Given the description of an element on the screen output the (x, y) to click on. 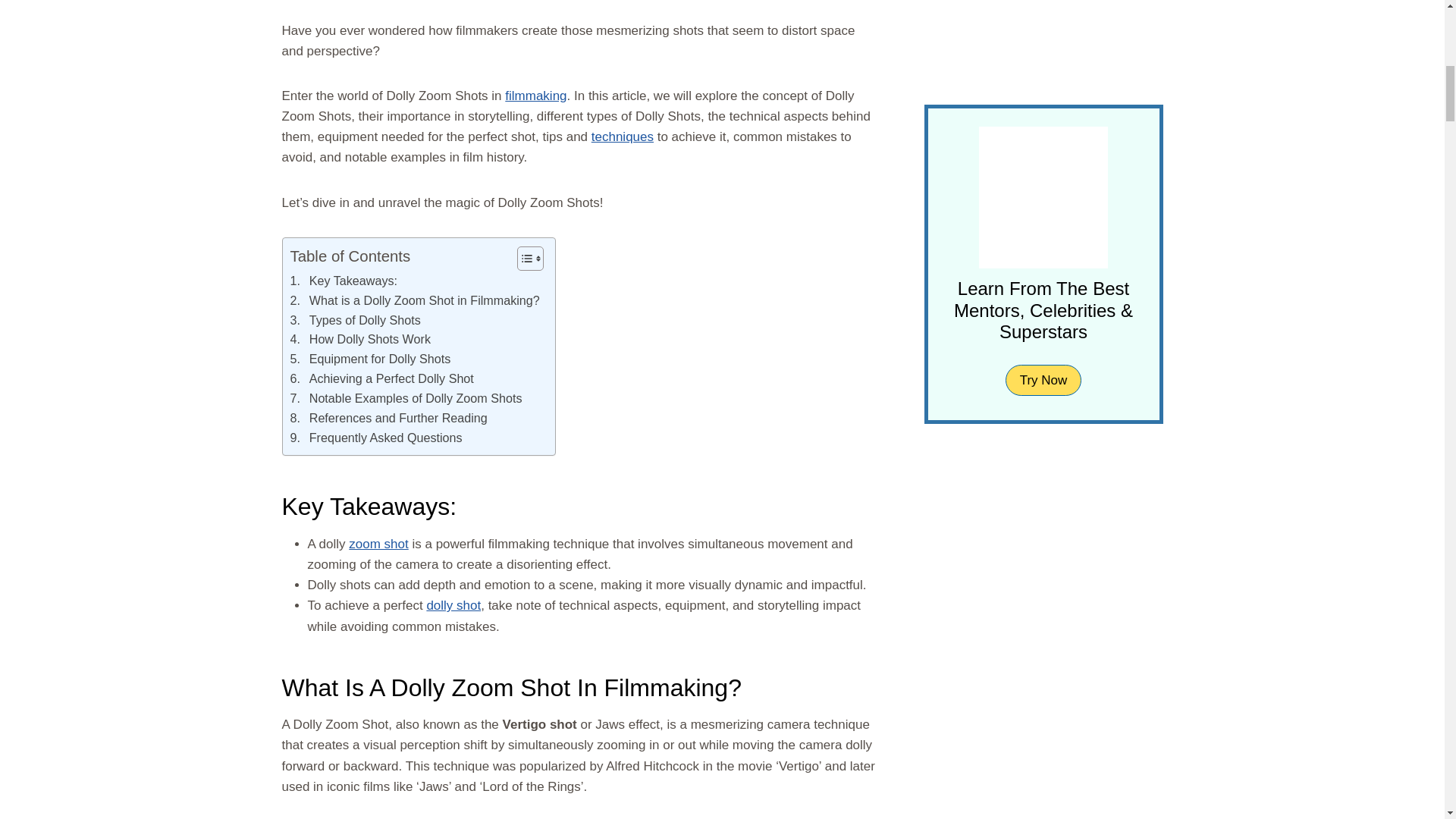
zoom shot (378, 544)
techniques (622, 136)
dolly shot (453, 605)
Types of Dolly Shots (354, 320)
What is a Dolly Zoom Shot in Filmmaking? (413, 301)
filmmaking (535, 95)
Achieving a Perfect Dolly Shot (381, 379)
Notable Examples of Dolly Zoom Shots (405, 398)
How Dolly Shots Work (359, 339)
Frequently Asked Questions (375, 437)
